Given the description of an element on the screen output the (x, y) to click on. 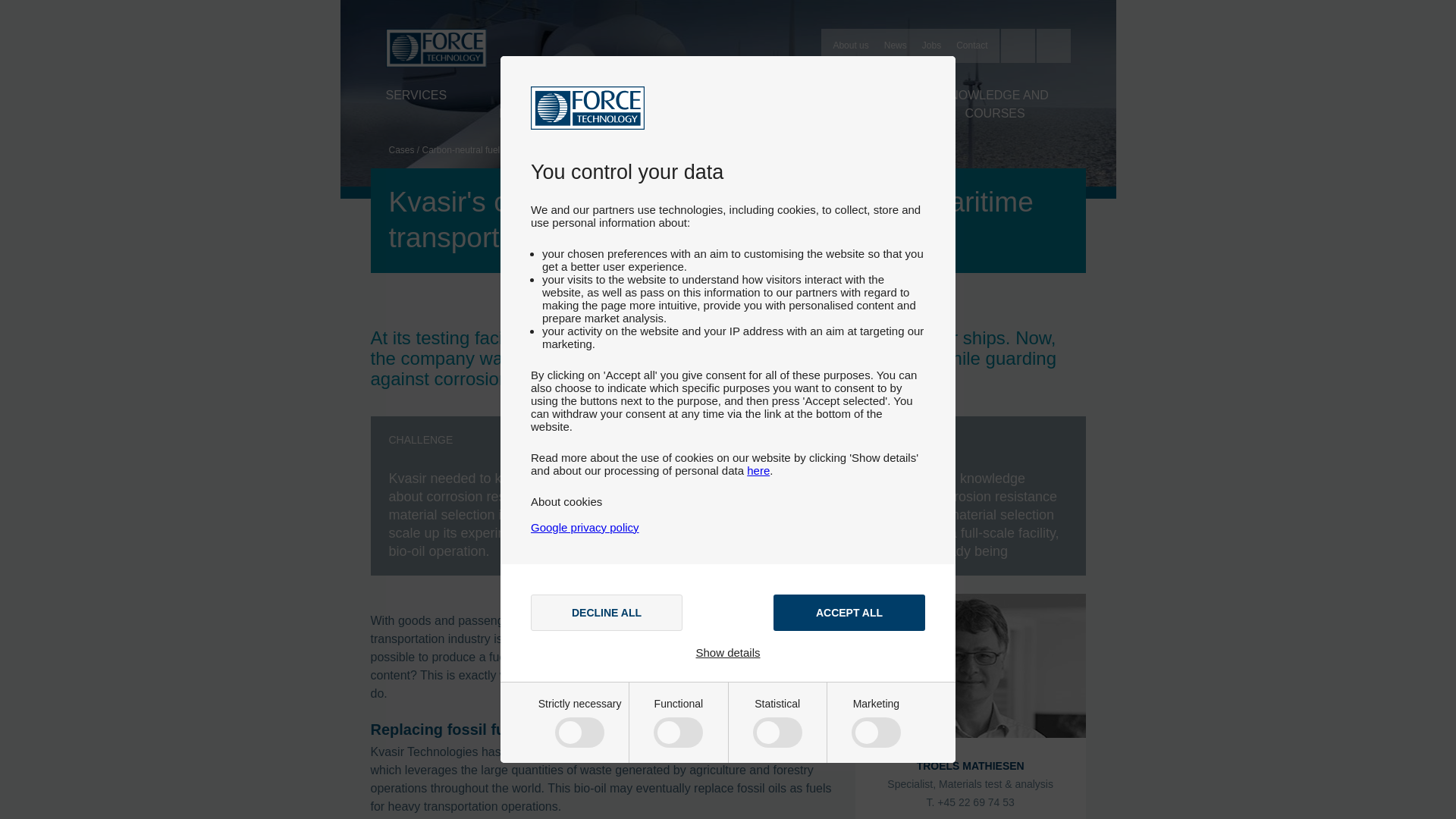
Google privacy policy (585, 526)
DECLINE ALL (606, 612)
About cookies (566, 501)
here (758, 470)
ACCEPT ALL (848, 612)
Show details (727, 652)
